Given the description of an element on the screen output the (x, y) to click on. 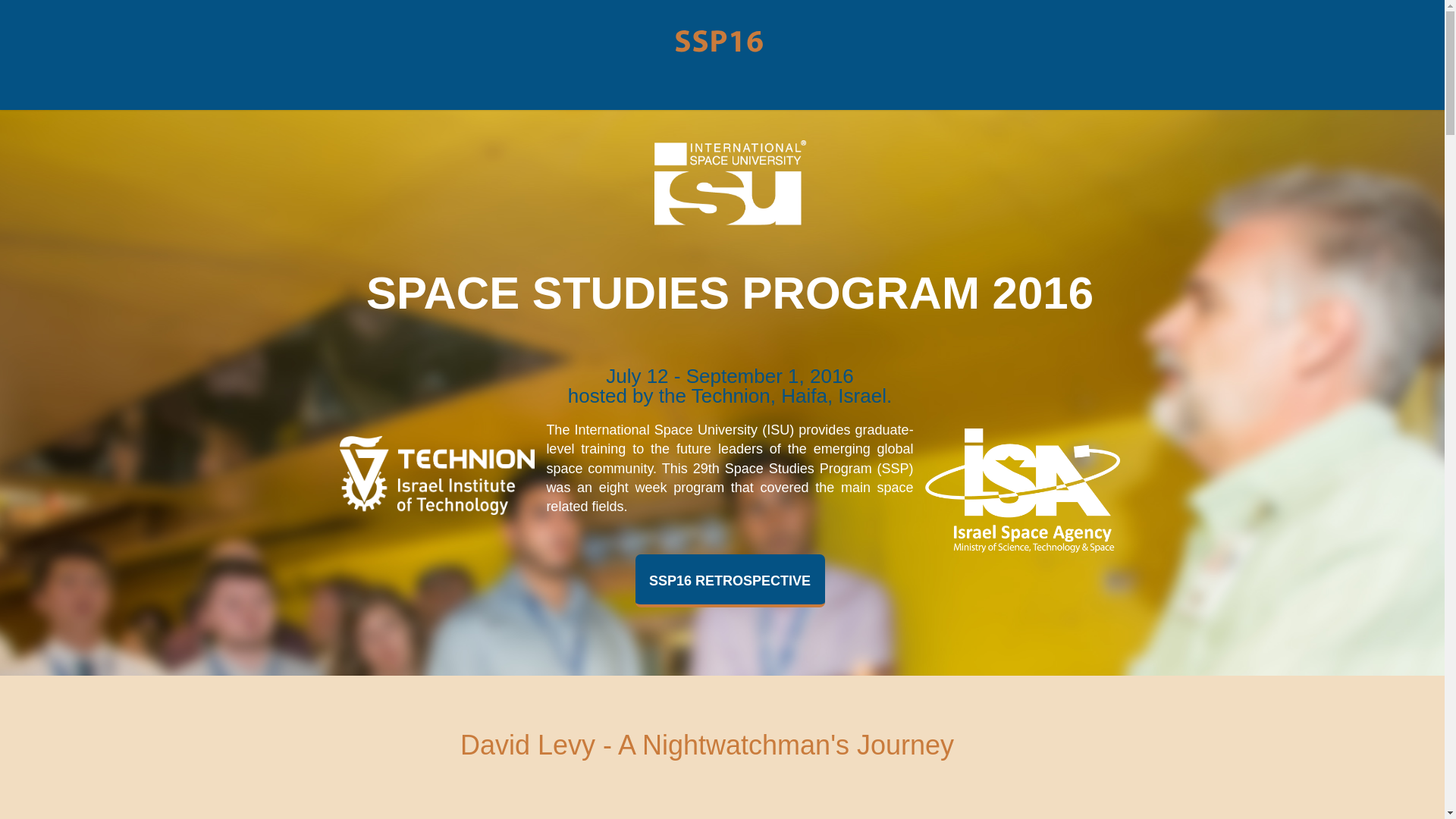
David Levy - A Nightwatchman's Journey (706, 744)
SPACE STUDIES PROGRAM 2016 (729, 292)
SSP16 RETROSPECTIVE (729, 580)
